Given the description of an element on the screen output the (x, y) to click on. 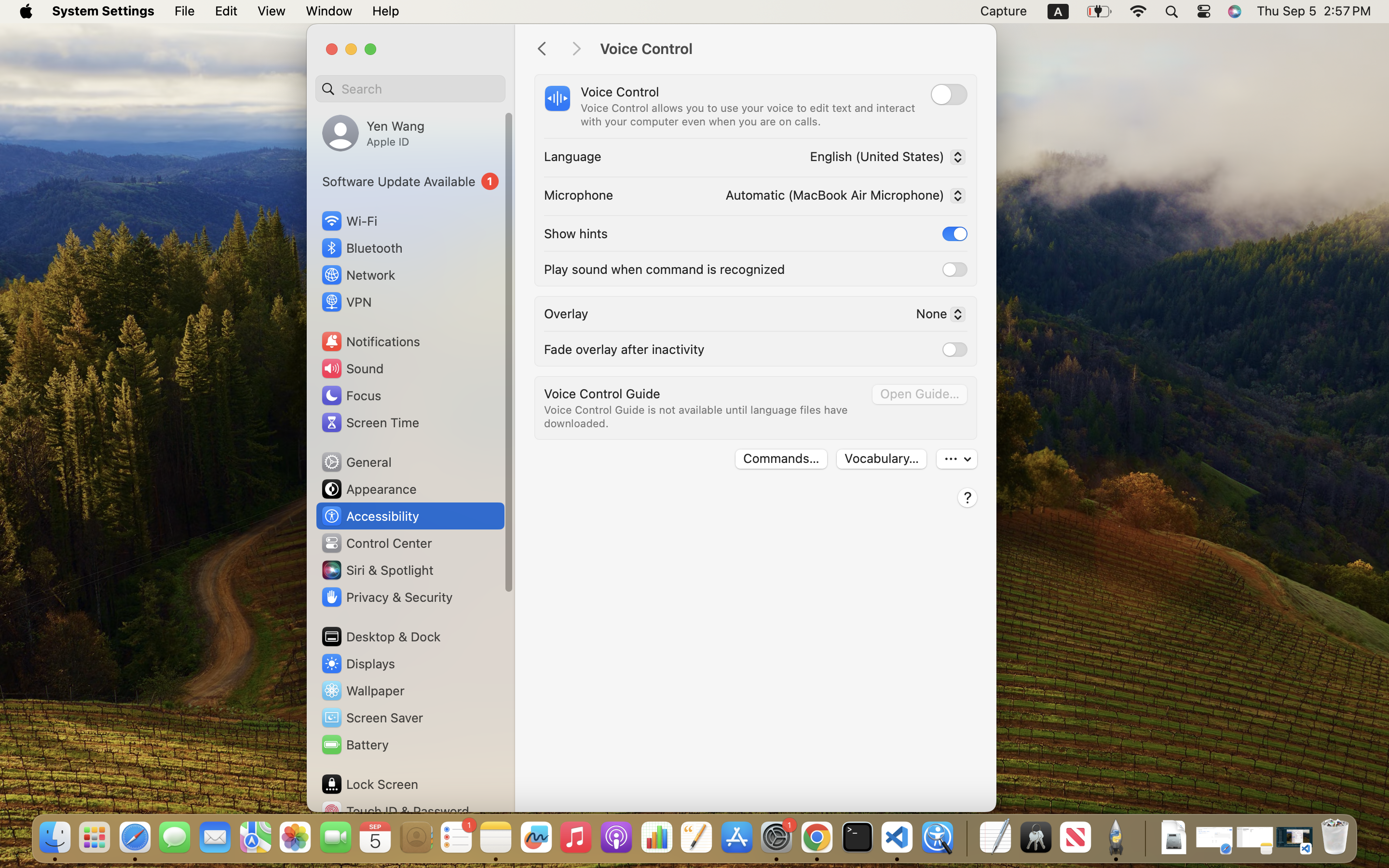
Network Element type: AXStaticText (357, 274)
General Element type: AXStaticText (355, 461)
Sound Element type: AXStaticText (351, 367)
Accessibility Element type: AXStaticText (369, 515)
Appearance Element type: AXStaticText (368, 488)
